Given the description of an element on the screen output the (x, y) to click on. 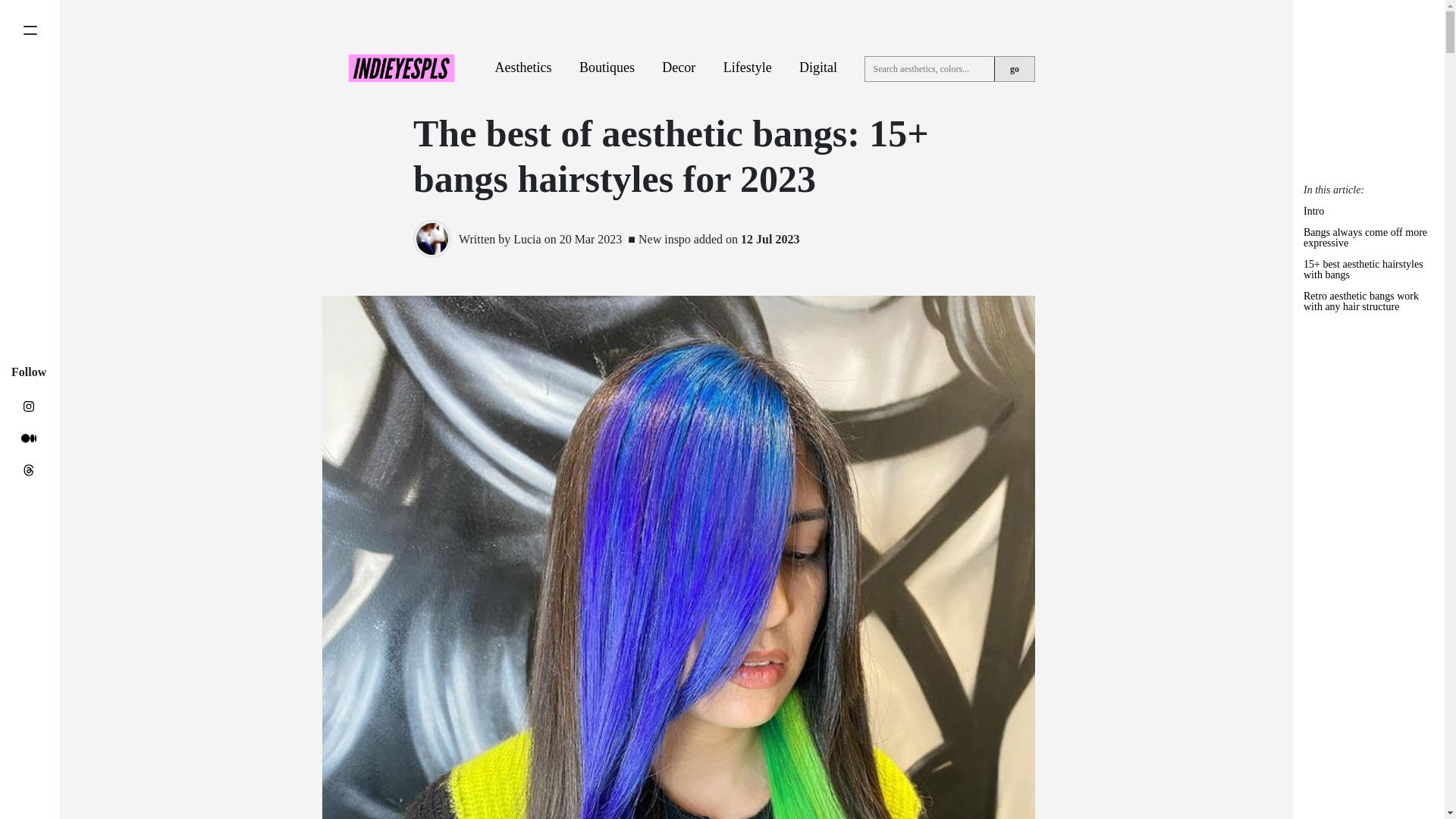
Decor (678, 67)
Lucia (526, 238)
go (1013, 68)
Retro aesthetic bangs work with any hair structure (1368, 306)
Aesthetics (523, 67)
Intro (1368, 216)
go (1013, 68)
Lifestyle (747, 67)
Boutiques (606, 67)
Digital (818, 67)
Bangs always come off more expressive (1368, 243)
